Given the description of an element on the screen output the (x, y) to click on. 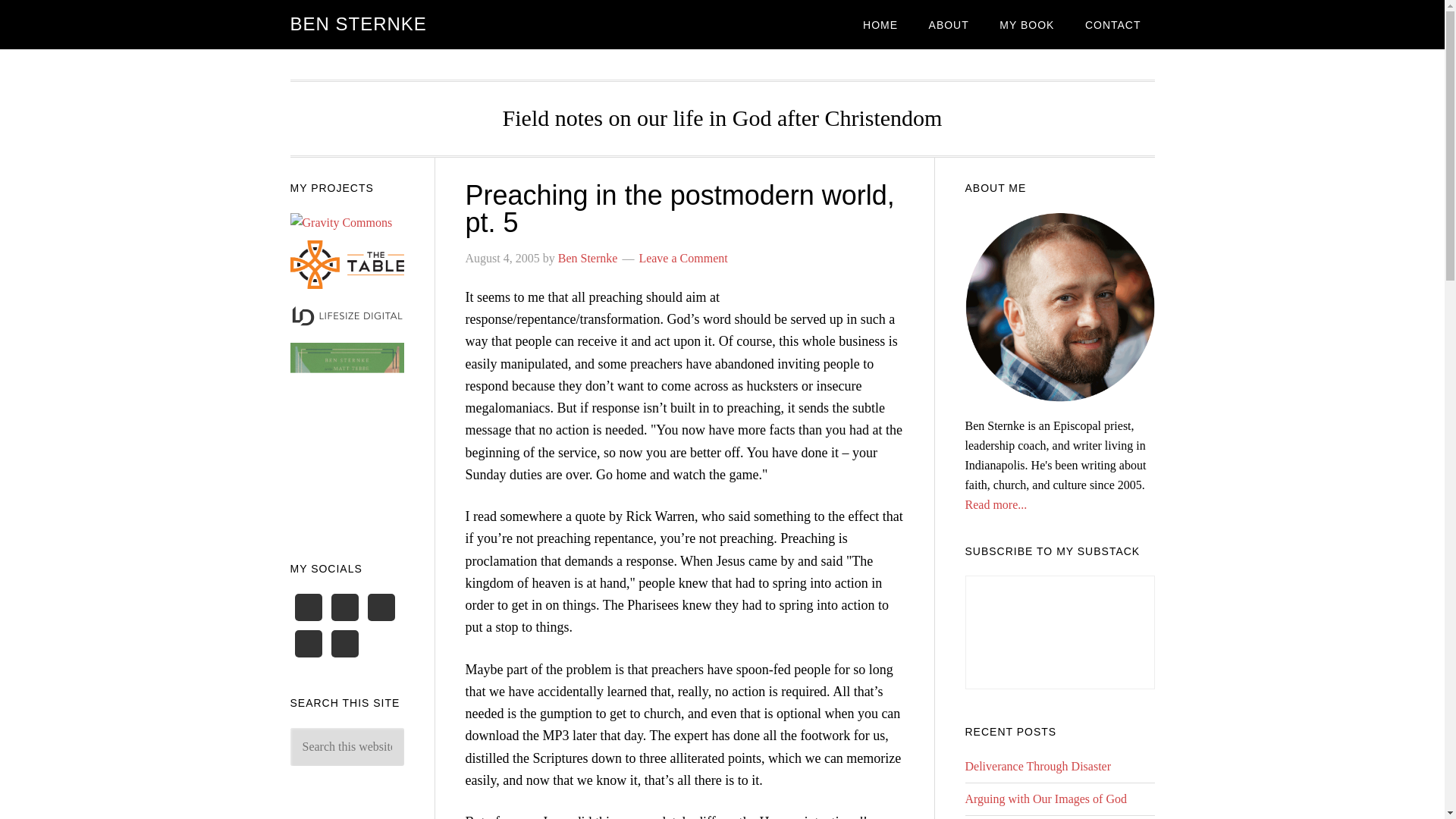
Leave a Comment (682, 257)
Read more... (994, 504)
MY BOOK (1026, 24)
Deliverance Through Disaster (1036, 766)
HOME (879, 24)
Ben Sternke (587, 257)
CONTACT (1112, 24)
Arguing with Our Images of God (1044, 798)
ABOUT (948, 24)
BEN STERNKE (357, 23)
